Given the description of an element on the screen output the (x, y) to click on. 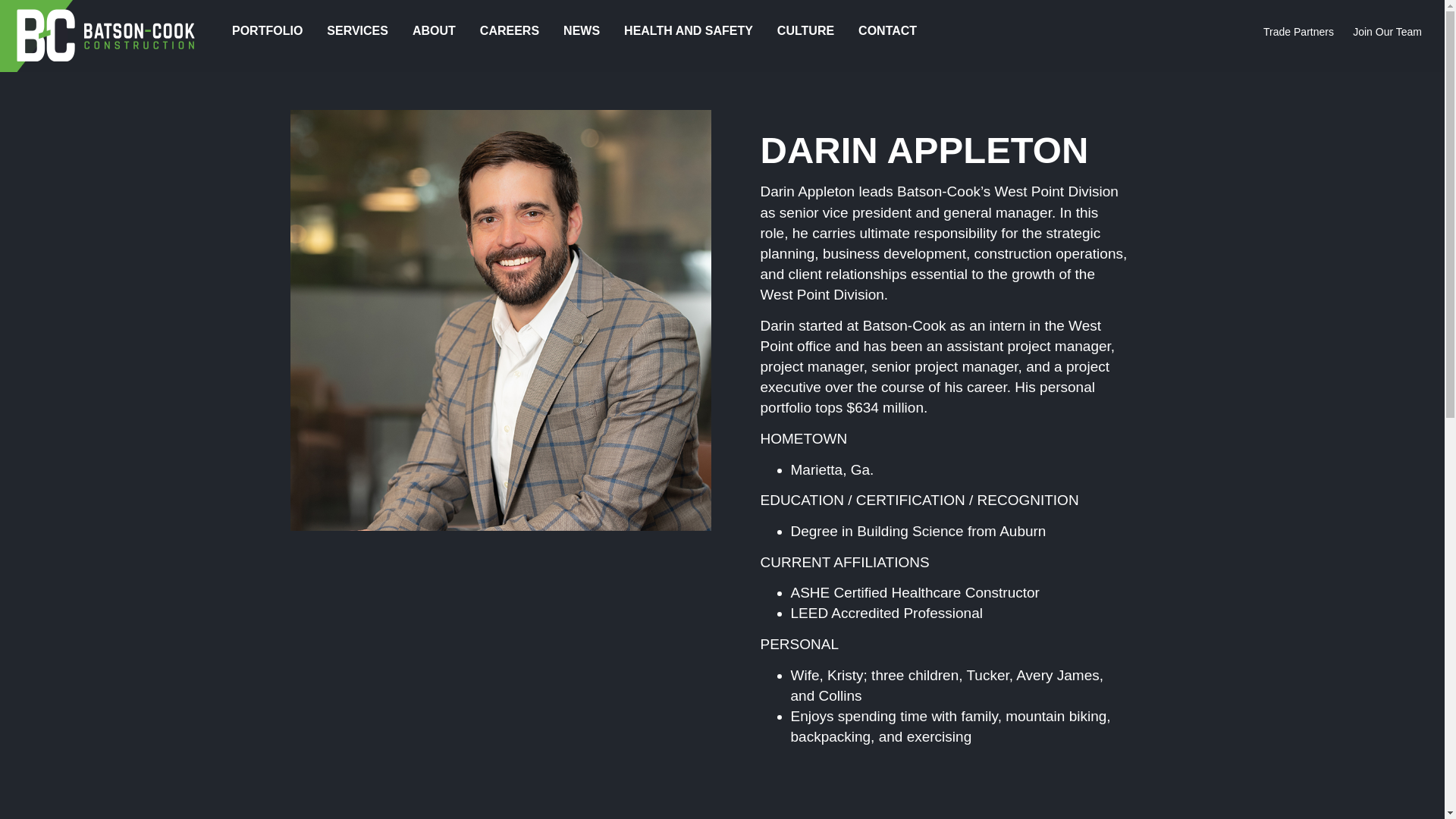
HEALTH AND SAFETY (688, 31)
ABOUT (433, 31)
PORTFOLIO (266, 31)
NEWS (581, 31)
SERVICES (357, 31)
CAREERS (509, 31)
